Given the description of an element on the screen output the (x, y) to click on. 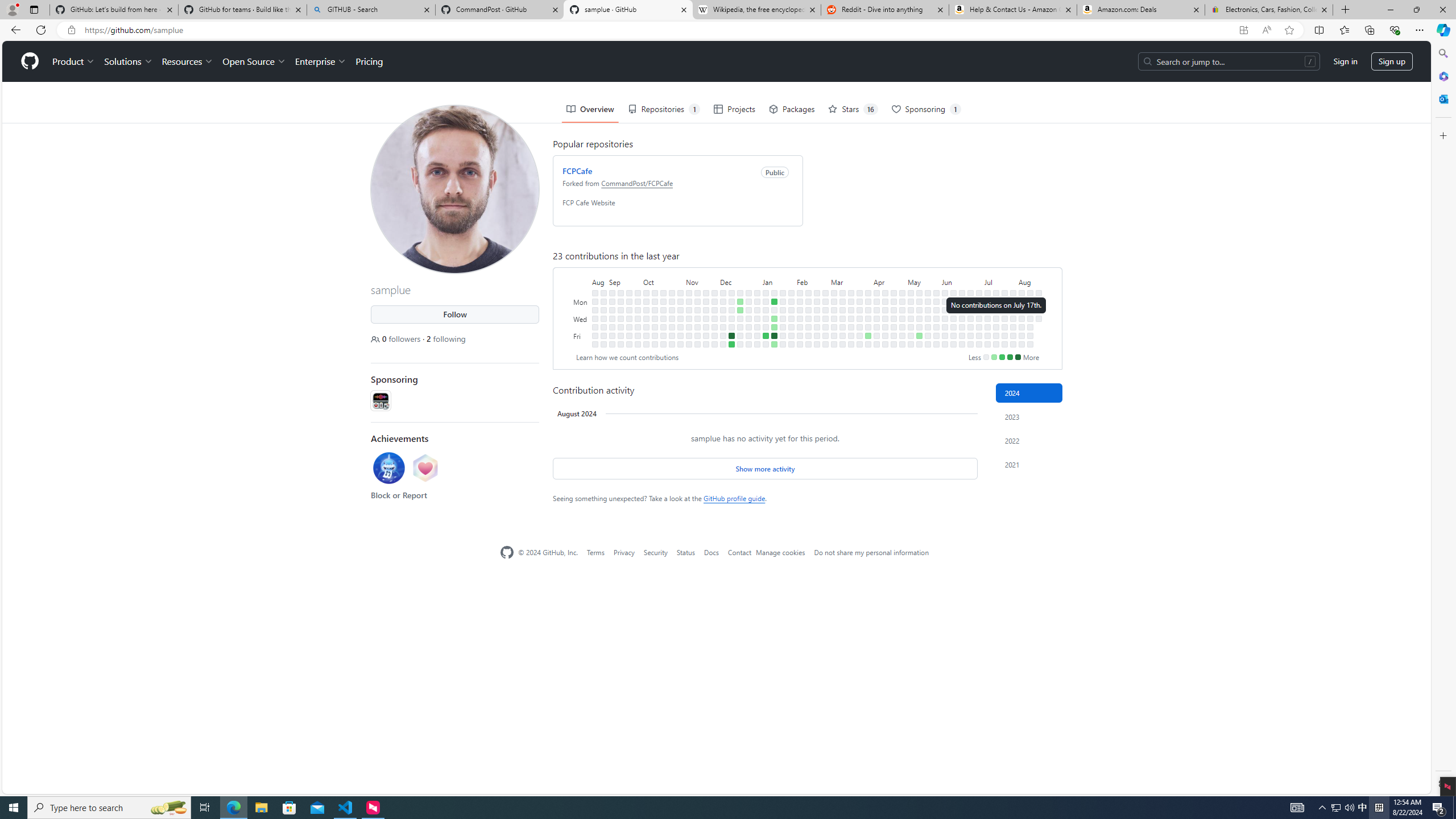
No contributions on October 21st. (663, 343)
No contributions on August 21st. (1038, 318)
No contributions on December 26th. (748, 309)
No contributions on July 24th. (1004, 318)
No contributions on August 10th. (1022, 343)
No contributions on June 24th. (970, 301)
Help & Contact Us - Amazon Customer Service (1012, 9)
No contributions on March 11th. (842, 301)
No contributions on December 27th. (748, 318)
No contributions on August 20th. (1038, 309)
No contributions on December 28th. (748, 326)
No contributions on April 7th. (876, 292)
No contributions on February 20th. (816, 309)
No contributions on March 3rd. (834, 292)
